Given the description of an element on the screen output the (x, y) to click on. 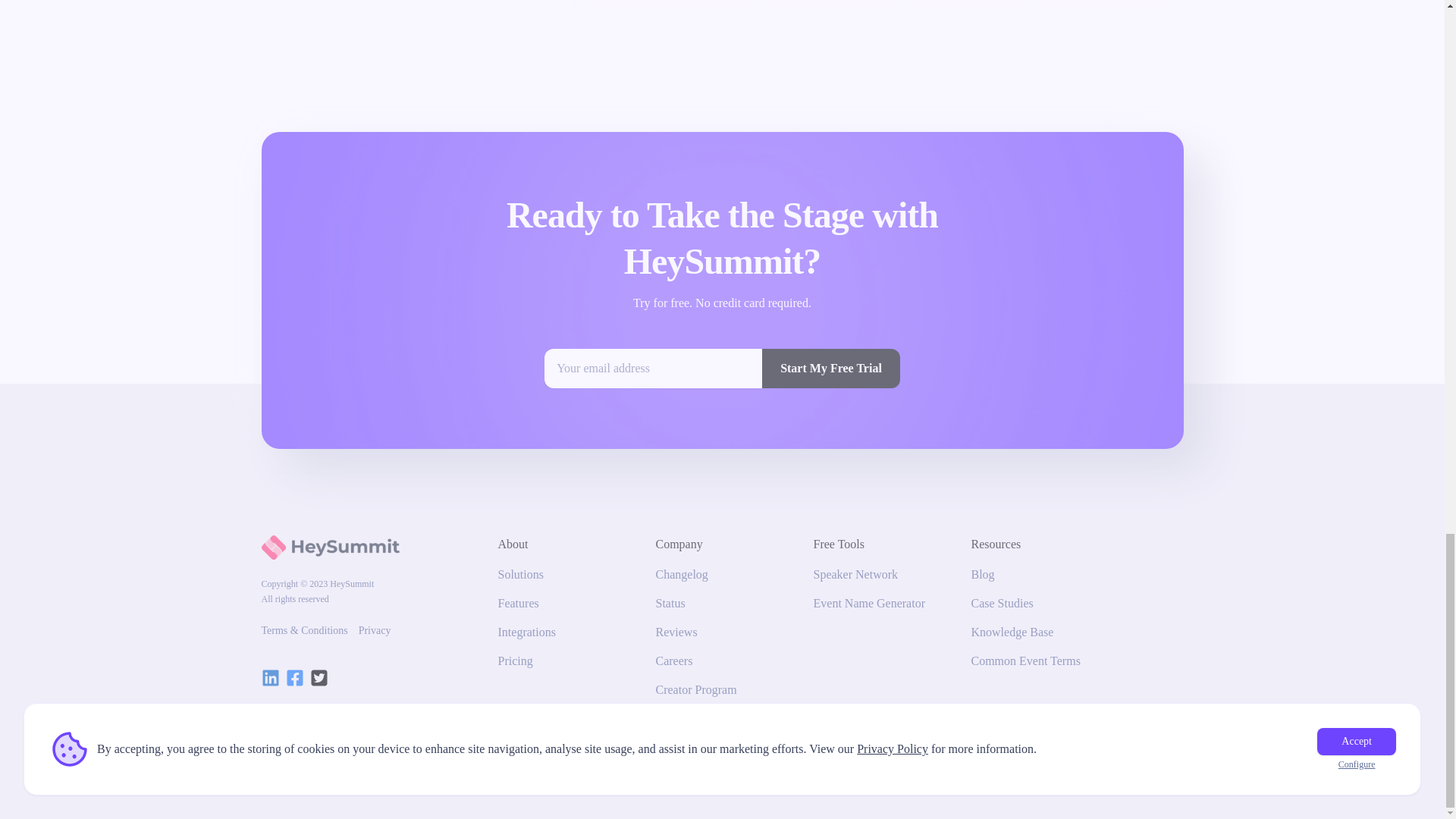
Solutions (520, 574)
Privacy (374, 630)
Changelog (681, 574)
Pricing (514, 660)
Start My Free Trial (830, 368)
Reviews (676, 632)
Speaker Network (855, 574)
Creator Program (695, 689)
Status (669, 603)
Blog (982, 574)
Event Name Generator (868, 603)
Careers (674, 660)
Twitter (317, 678)
Facebook (293, 678)
LinkedIn (269, 678)
